Given the description of an element on the screen output the (x, y) to click on. 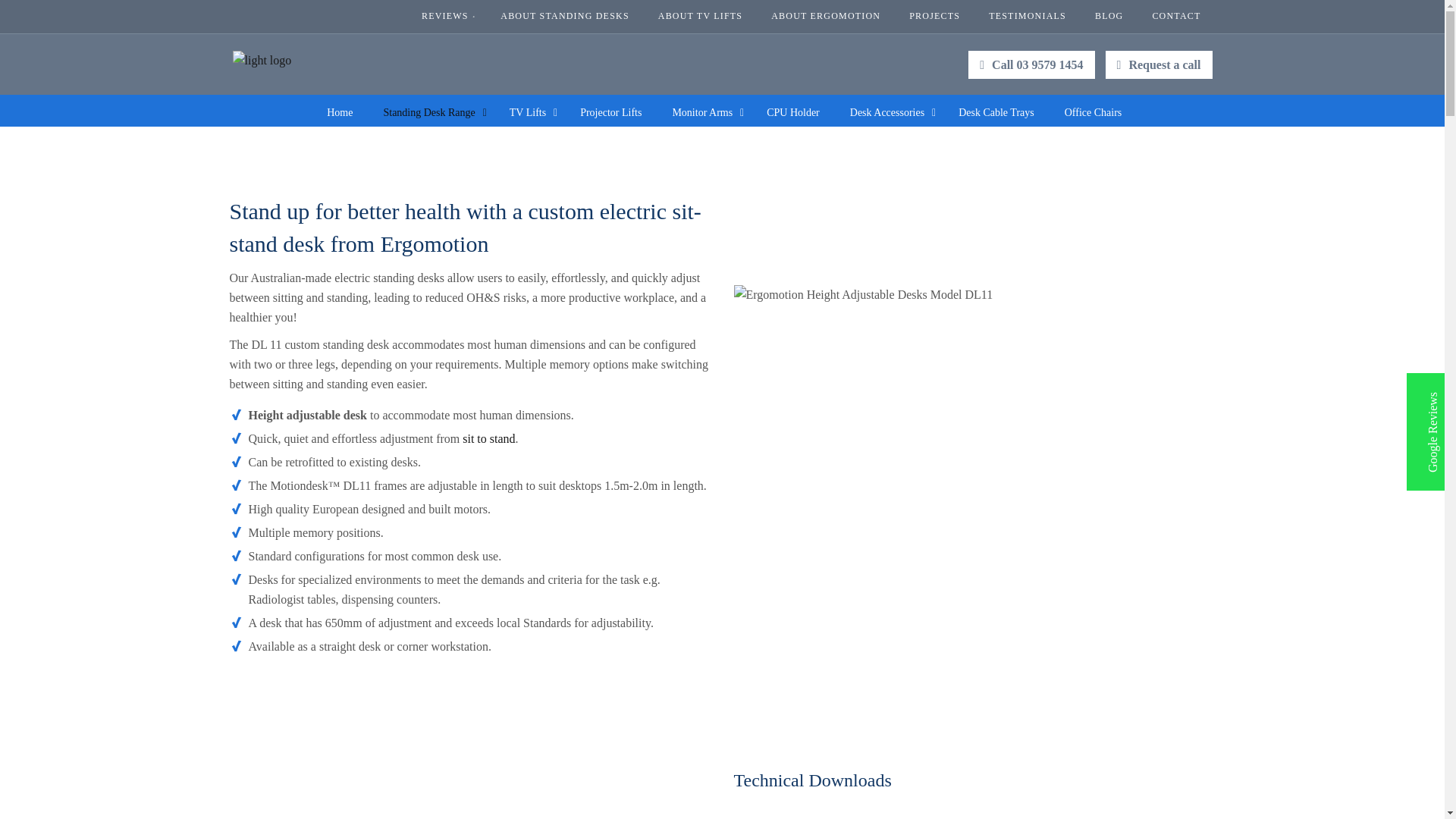
Standing Desk Range (430, 113)
REVIEWS (446, 16)
View our monitor arms (703, 113)
Call 03 9579 1454 (1031, 64)
View our cable trays (996, 113)
Monitor Arms (703, 113)
ABOUT STANDING DESKS (564, 16)
PROJECTS (934, 16)
TESTIMONIALS (1027, 16)
View our desk accessories (888, 113)
CONTACT (1175, 16)
ABOUT TV LIFTS (700, 16)
Projector Lifts (610, 113)
View our standing desk range (430, 113)
